Given the description of an element on the screen output the (x, y) to click on. 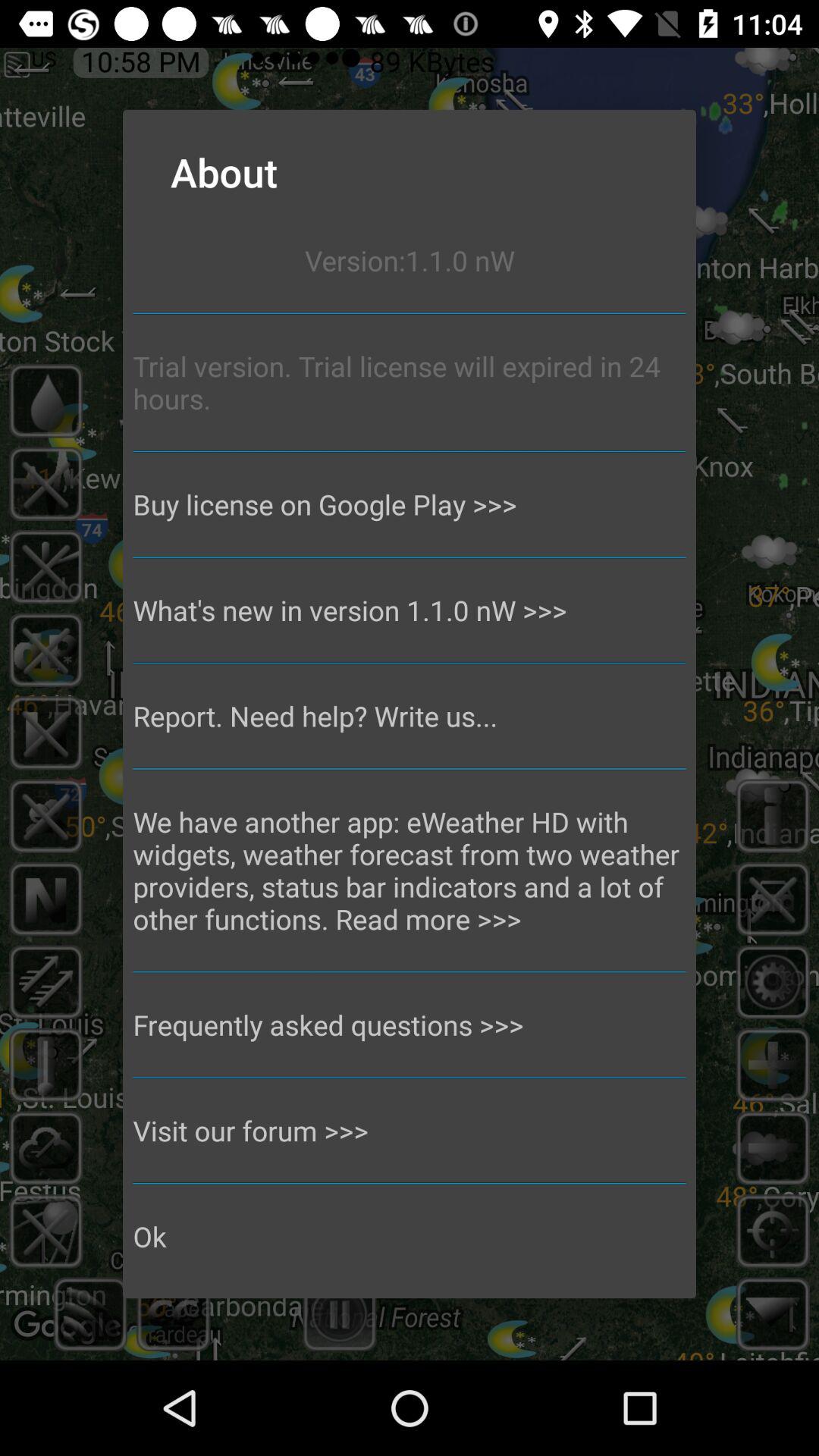
jump until buy license on icon (409, 504)
